Given the description of an element on the screen output the (x, y) to click on. 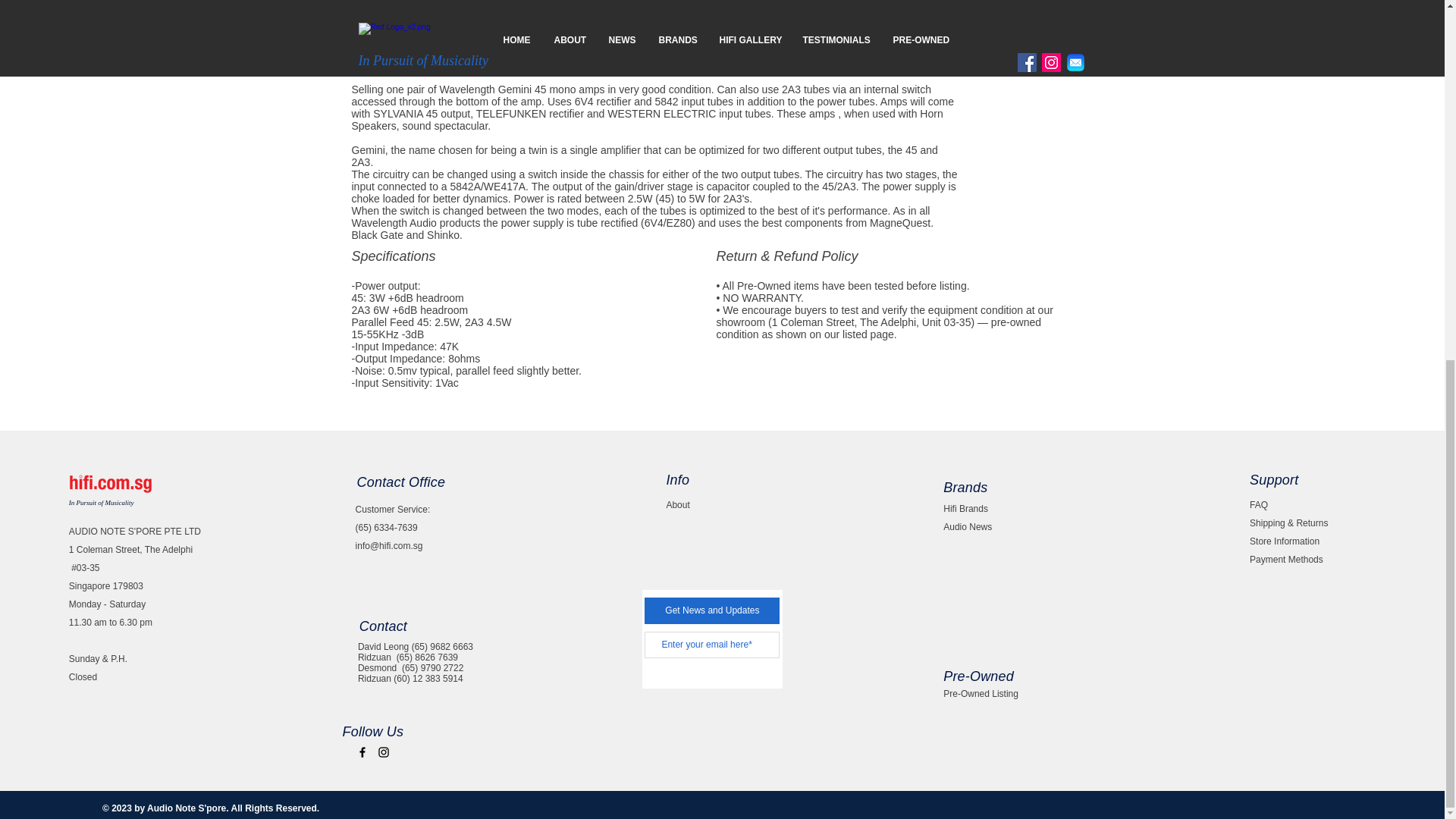
Get News and Updates (711, 610)
About (676, 504)
FAQ (1258, 504)
Audio News (967, 526)
Pre-Owned Listing (980, 693)
Store Information (1284, 541)
Payment Methods (1286, 559)
In Pursuit of Musicality (100, 502)
Hifi Brands (965, 508)
